Given the description of an element on the screen output the (x, y) to click on. 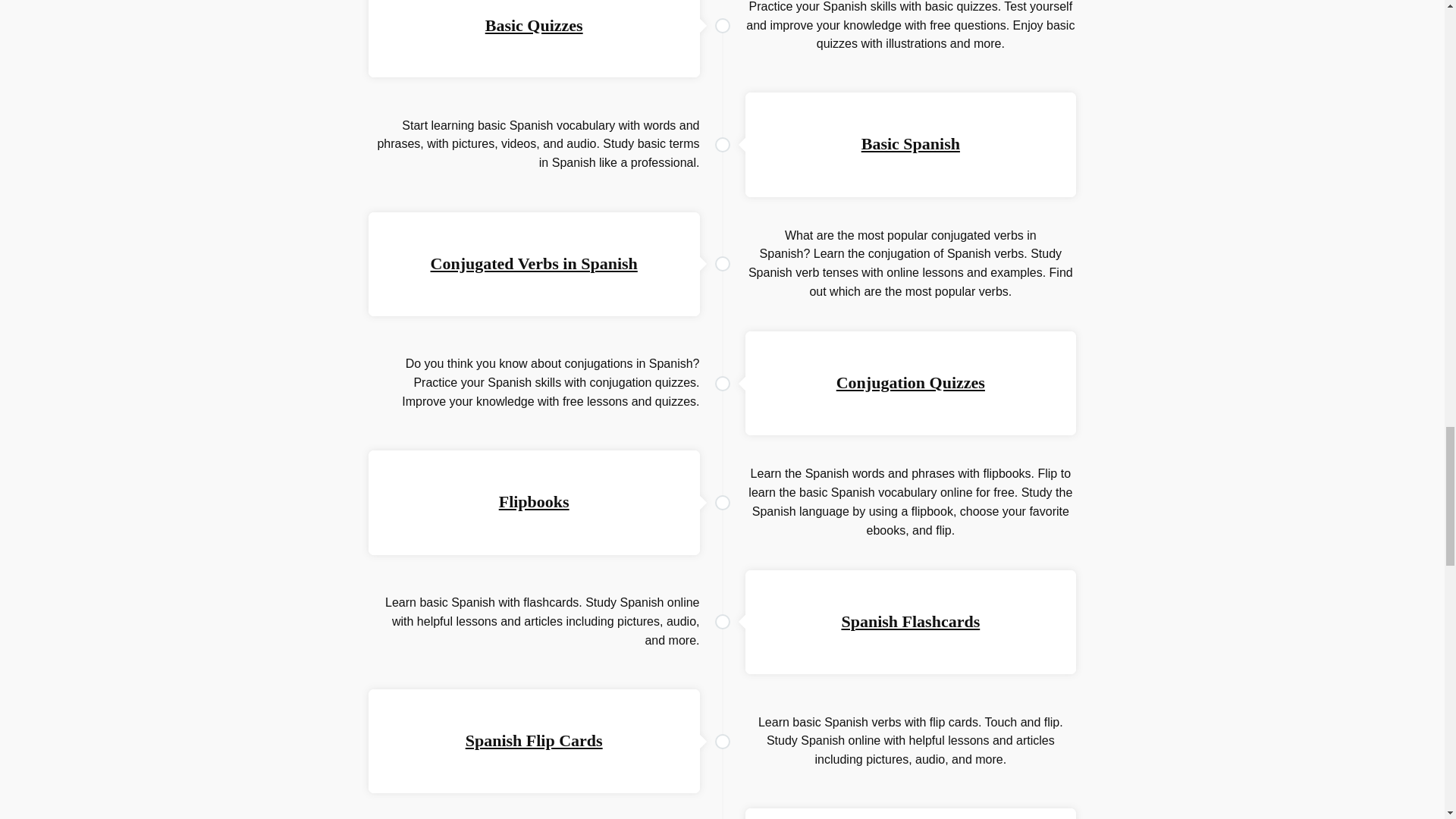
Basic Quizzes (533, 25)
Conjugated Verbs in Spanish (533, 262)
Conjugation Quizzes (910, 382)
Basic Spanish (910, 143)
